Given the description of an element on the screen output the (x, y) to click on. 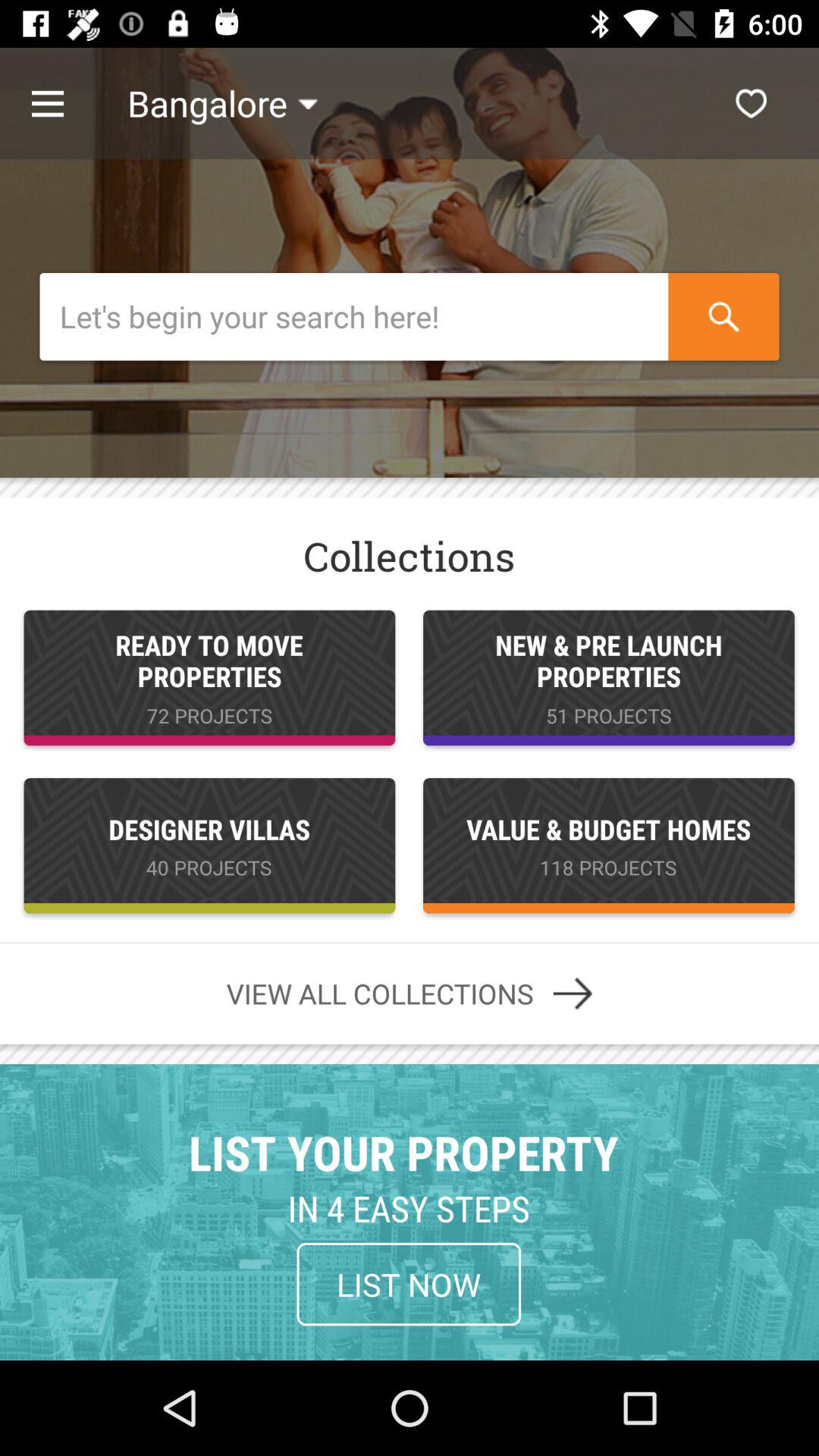
choose list now item (408, 1283)
